Given the description of an element on the screen output the (x, y) to click on. 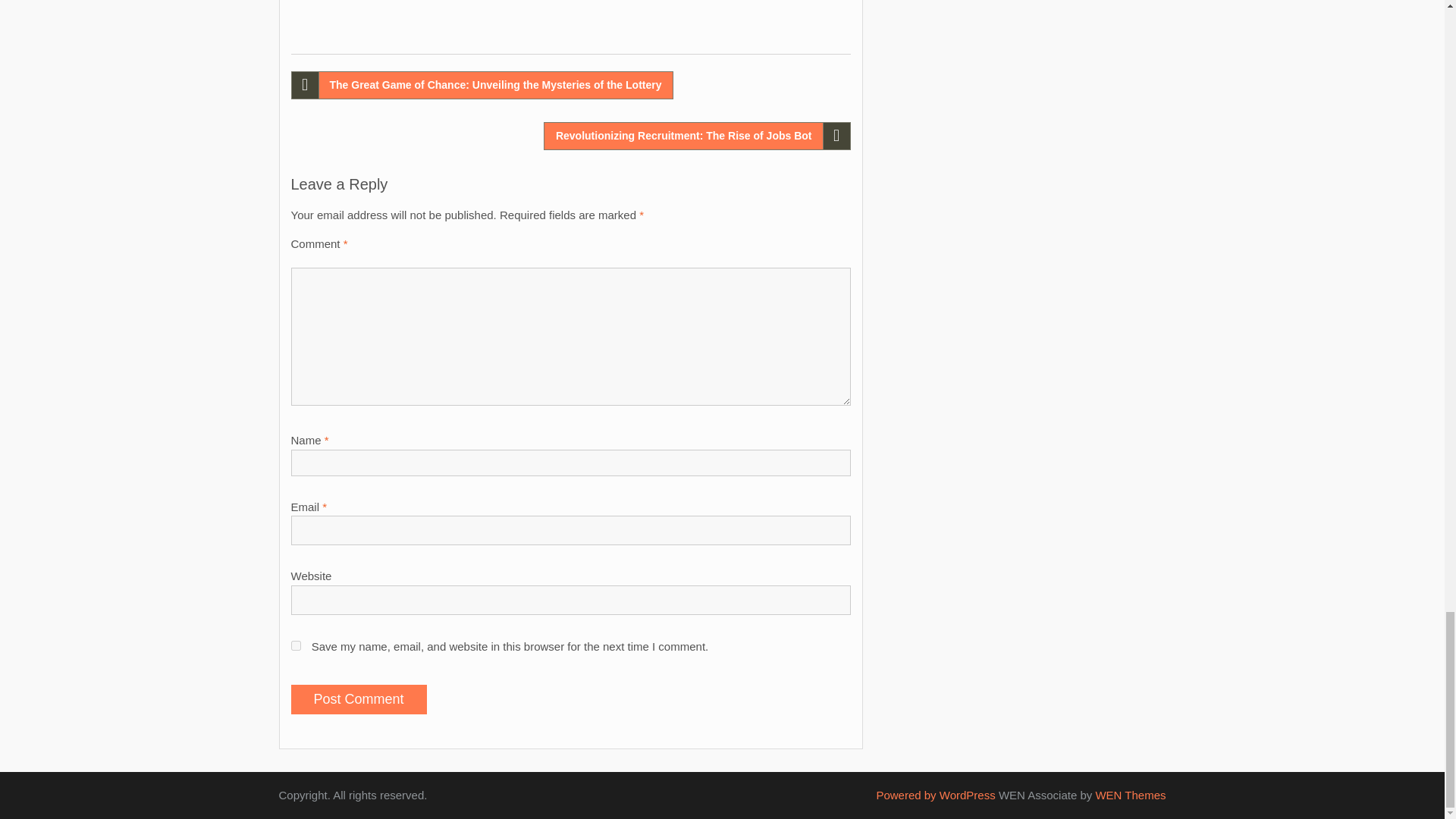
Revolutionizing Recruitment: The Rise of Jobs Bot (696, 135)
yes (296, 645)
Post Comment (358, 699)
Post Comment (358, 699)
